Given the description of an element on the screen output the (x, y) to click on. 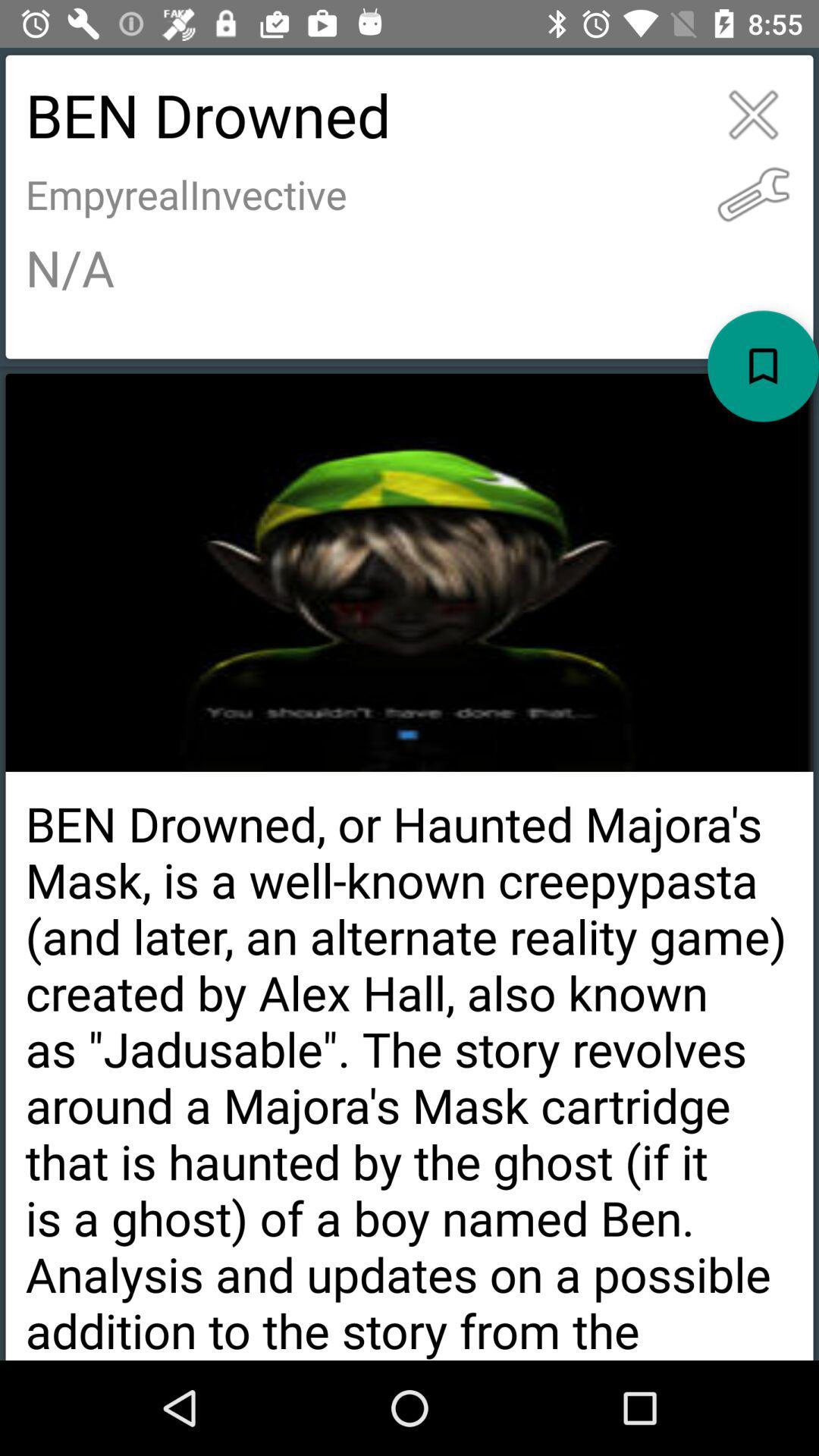
open icon above n/a (753, 194)
